Given the description of an element on the screen output the (x, y) to click on. 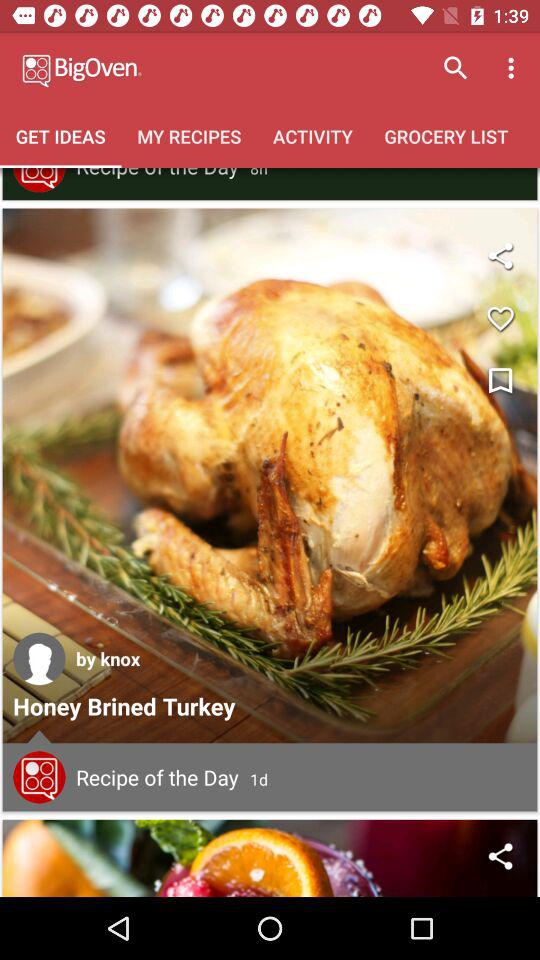
like/favorite (500, 318)
